Given the description of an element on the screen output the (x, y) to click on. 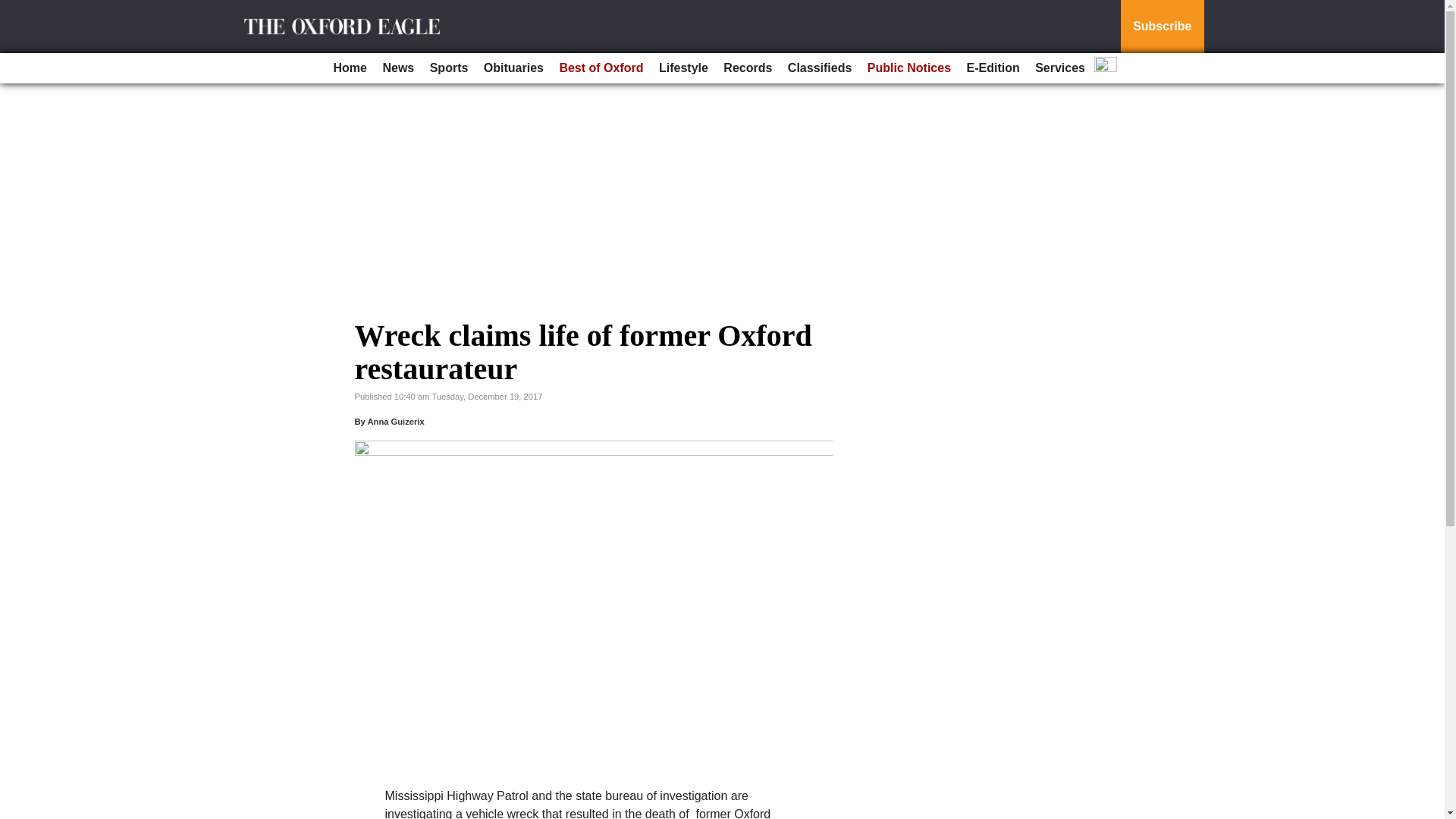
Best of Oxford (601, 68)
Obituaries (513, 68)
Go (13, 9)
Sports (448, 68)
Records (747, 68)
Subscribe (1162, 26)
Classifieds (819, 68)
Home (349, 68)
Public Notices (908, 68)
Anna Guizerix (394, 420)
